Given the description of an element on the screen output the (x, y) to click on. 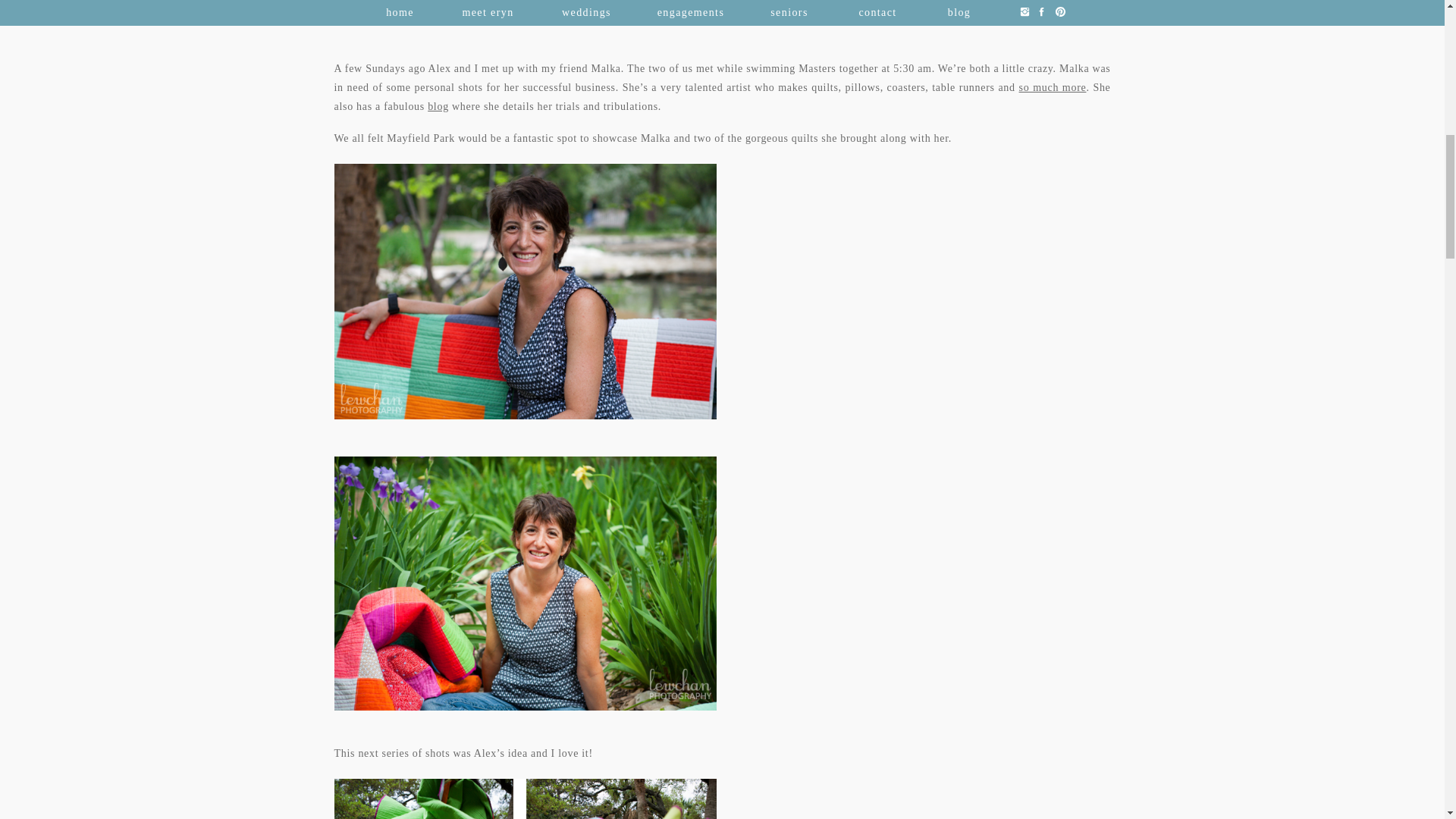
head shots (721, 18)
so much more (1052, 87)
blog (438, 106)
3 (524, 798)
1 (524, 291)
2 (524, 583)
